Given the description of an element on the screen output the (x, y) to click on. 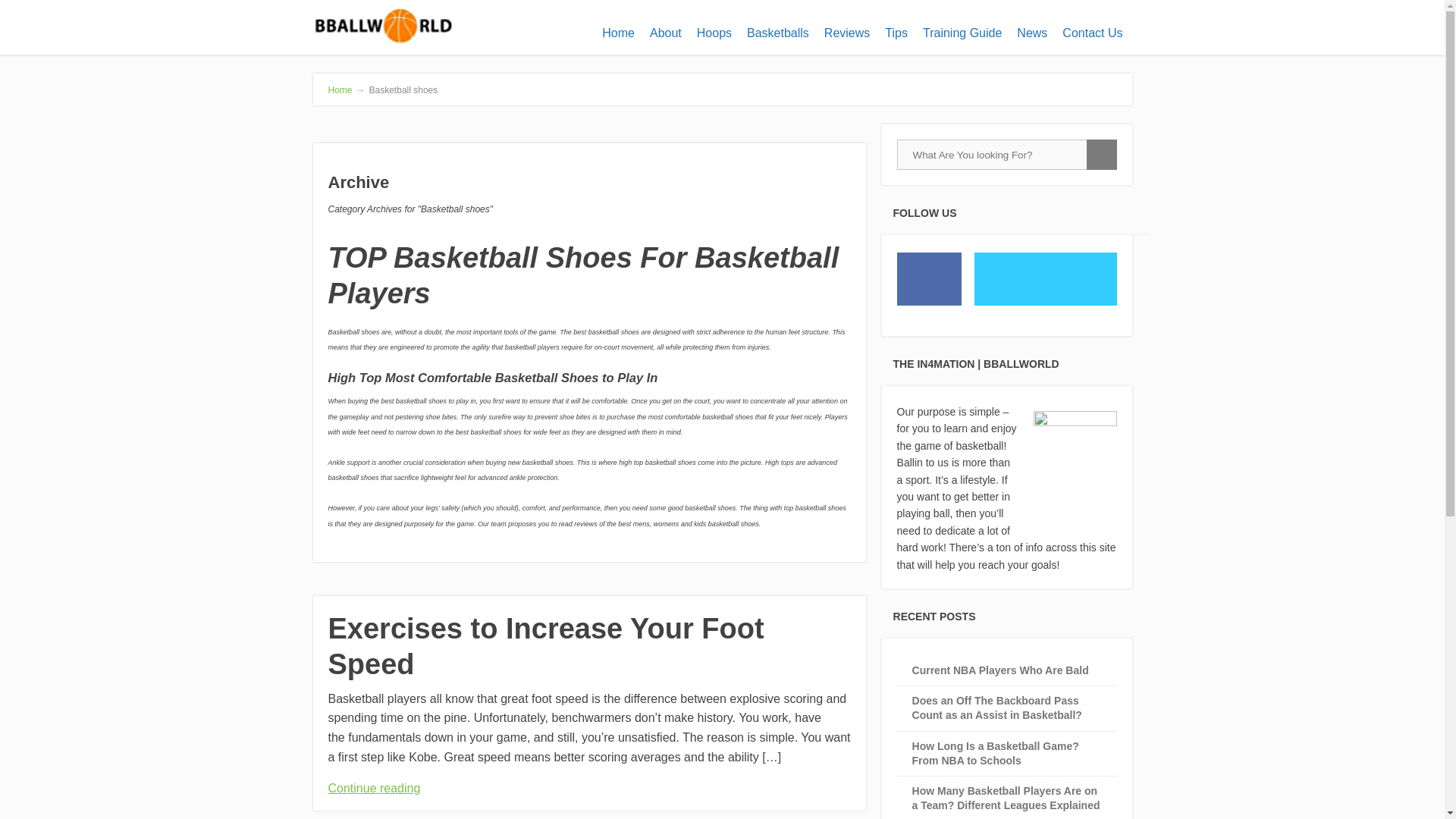
Reviews (846, 32)
News (1031, 32)
Tips (896, 32)
Continue reading (373, 788)
Exercises to Increase Your Foot Speed (544, 646)
Contact Us (1091, 32)
Training Guide (962, 32)
Hoops (713, 32)
Basketballs (777, 32)
Home (618, 32)
About (665, 32)
